Given the description of an element on the screen output the (x, y) to click on. 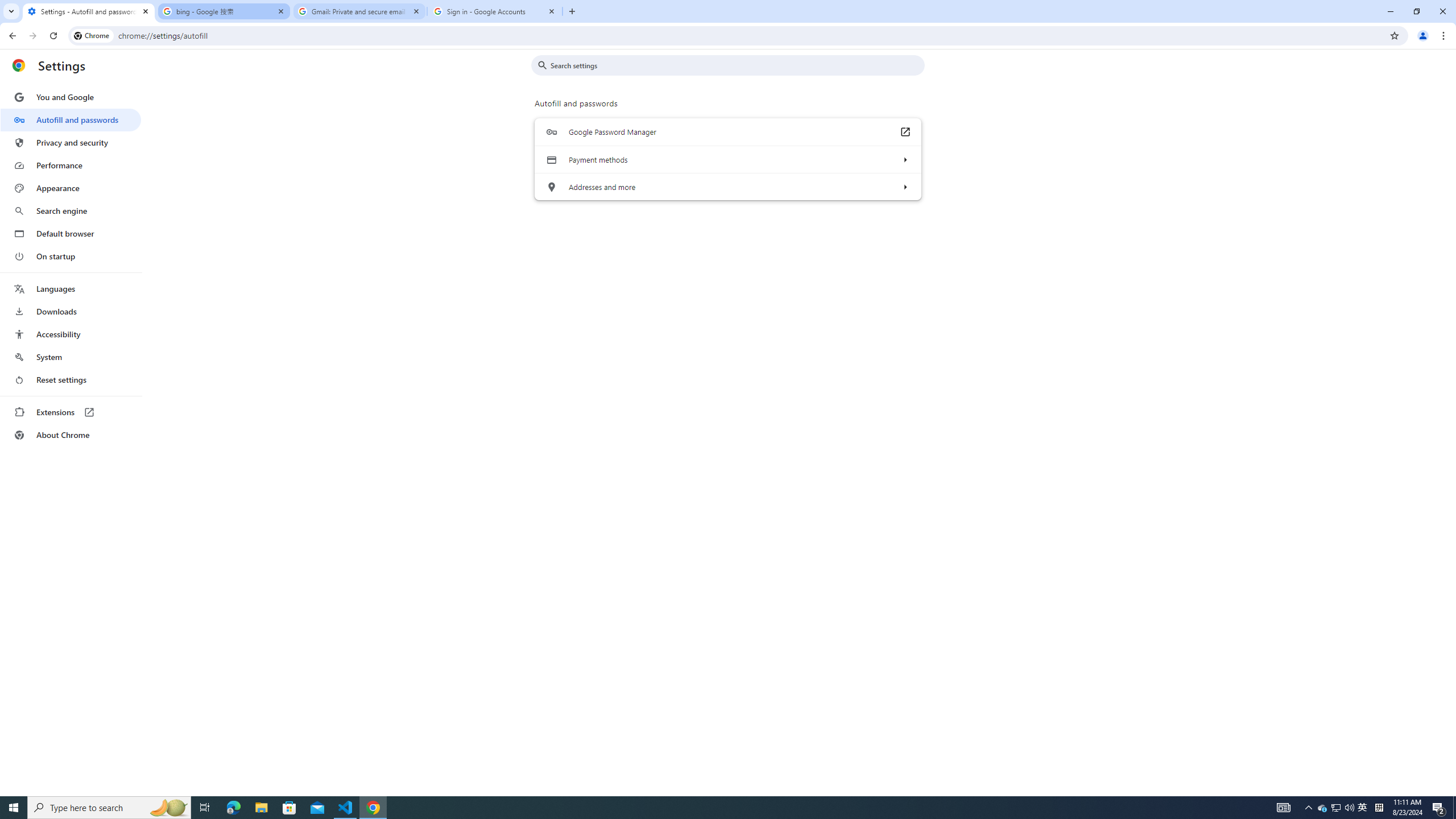
Bing (152, 224)
